Given the description of an element on the screen output the (x, y) to click on. 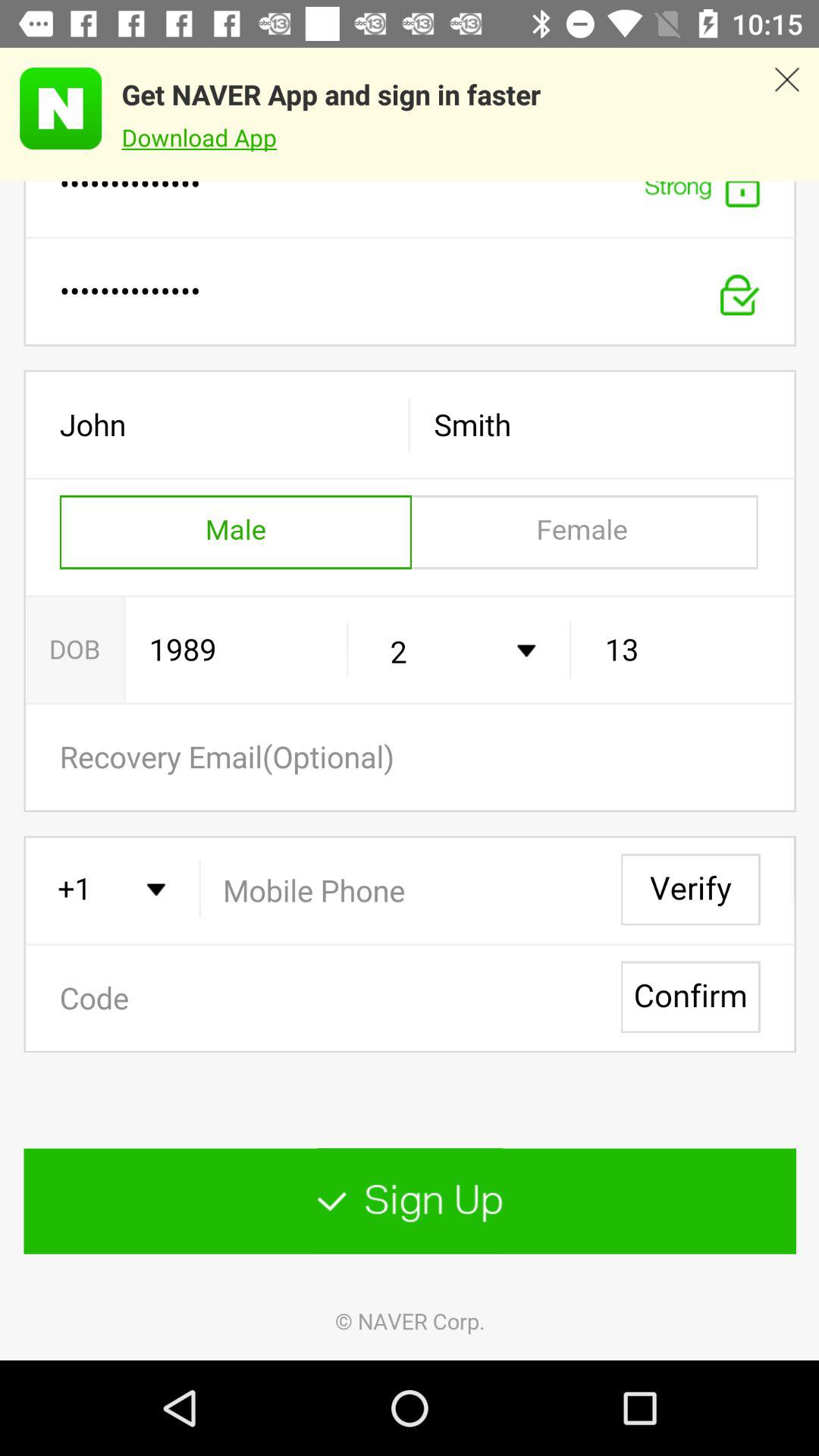
screen button (409, 770)
